Given the description of an element on the screen output the (x, y) to click on. 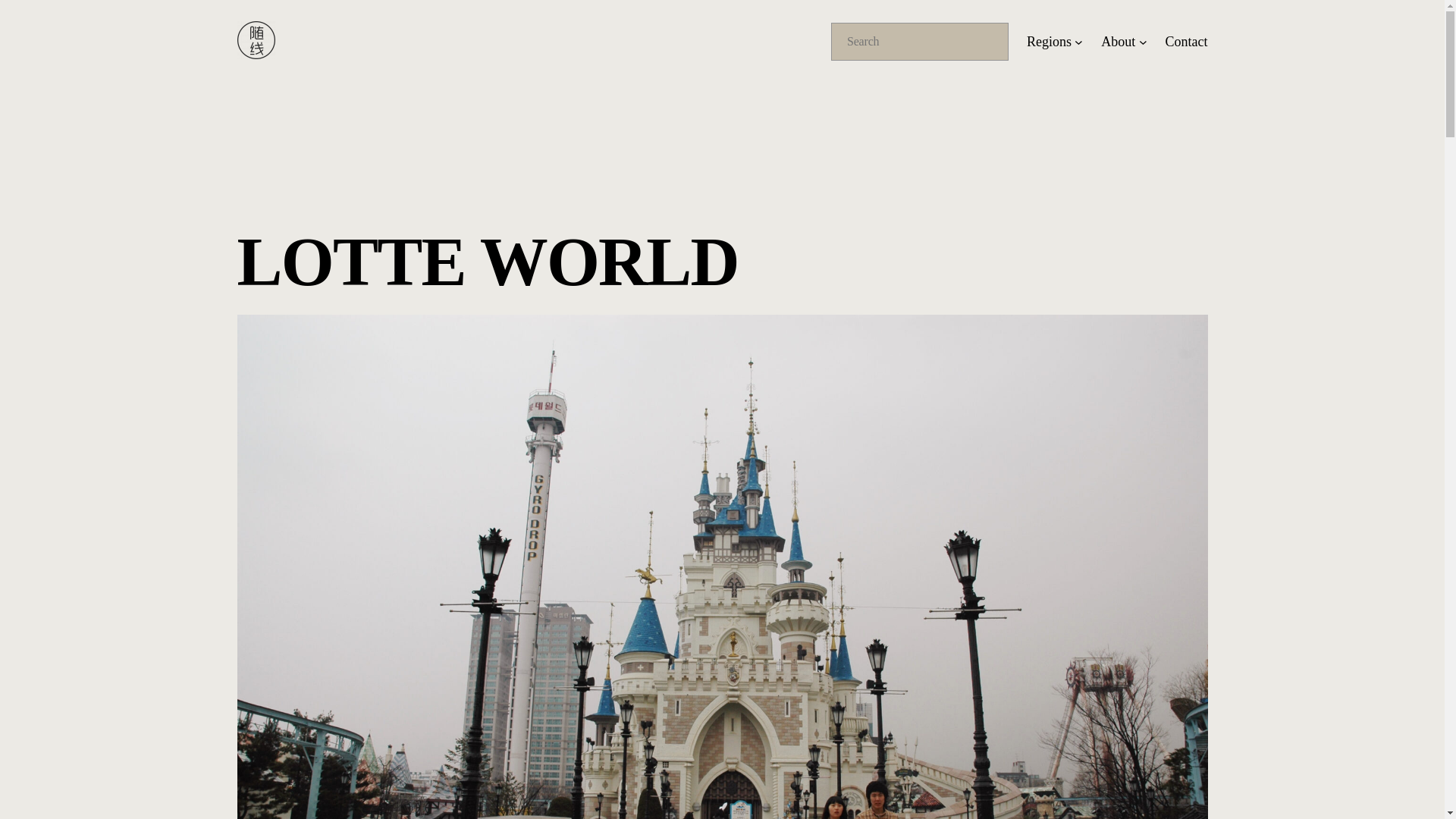
Regions (1048, 41)
